Given the description of an element on the screen output the (x, y) to click on. 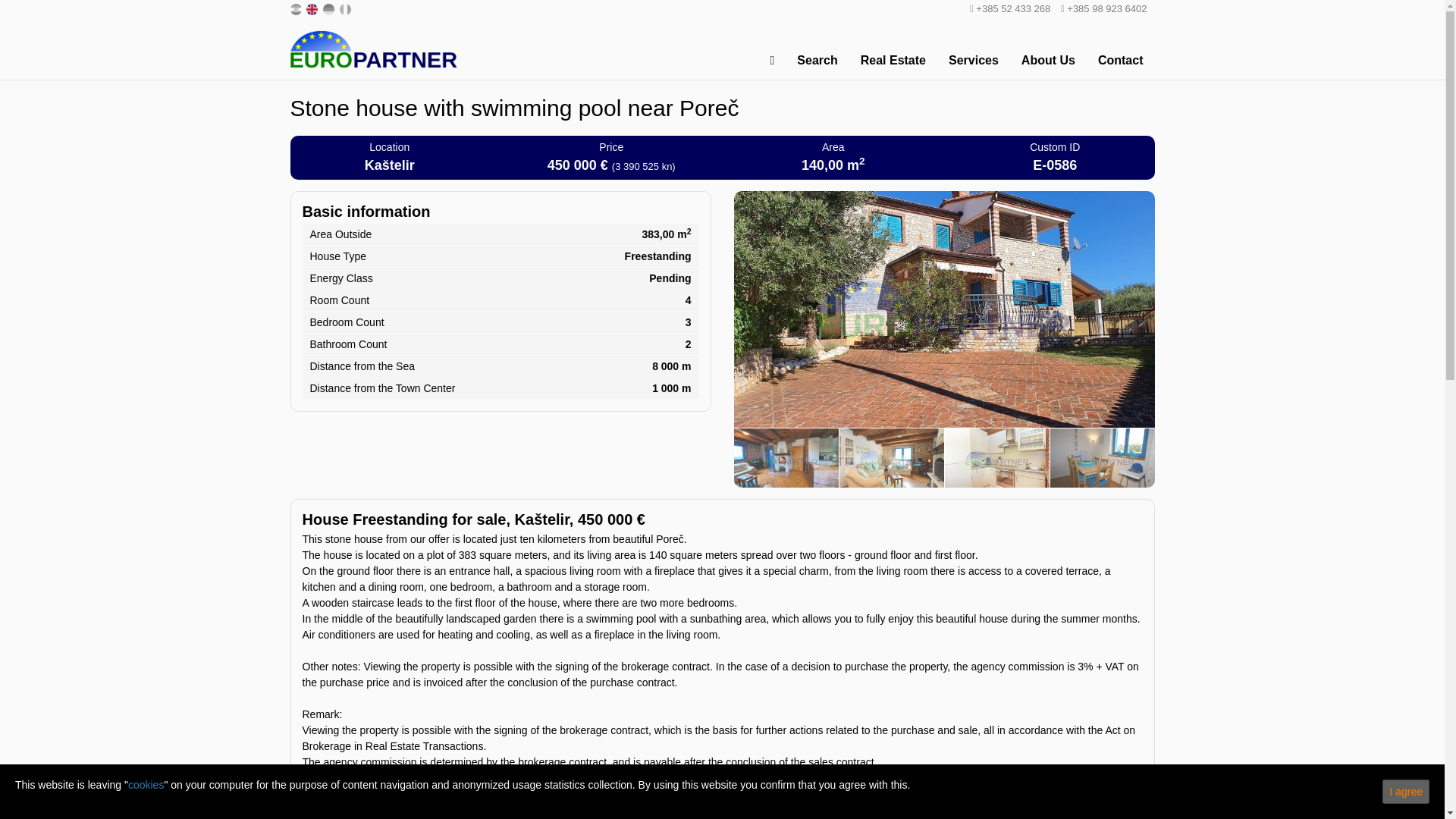
About Us (1048, 60)
Services (973, 60)
Search (817, 60)
Services (973, 60)
About Us (1048, 60)
Traduci in italiano (346, 8)
Search (817, 60)
Prevedi na hrvatski (295, 8)
Translate to English (312, 8)
Contact (1120, 60)
Europartner (373, 48)
Contact (1120, 60)
Real Estate (892, 60)
Real Estate (892, 60)
